Given the description of an element on the screen output the (x, y) to click on. 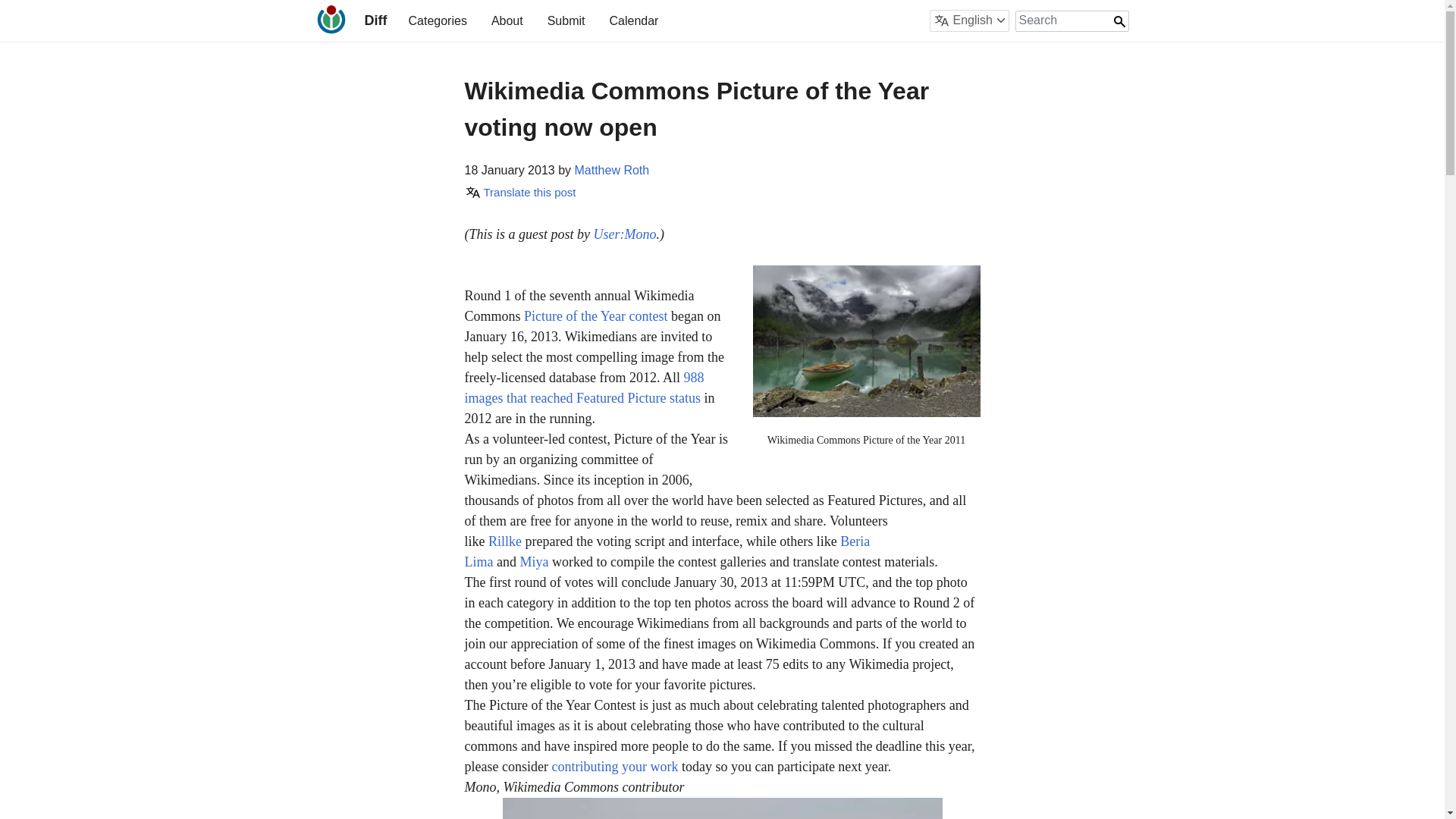
Calendar (632, 20)
Matthew Roth (612, 169)
Rillke (504, 540)
About (506, 20)
User:Mono (625, 233)
commons:User:Mono (625, 233)
contributing your work (614, 766)
commons:User:Beria (666, 551)
Beria Lima (666, 551)
Miya (533, 561)
commons:Special:UploadWizard (614, 766)
main-navigation (532, 20)
User:Rillke (504, 540)
commons:User:Miya (533, 561)
988 images that reached Featured Picture status (583, 387)
